Given the description of an element on the screen output the (x, y) to click on. 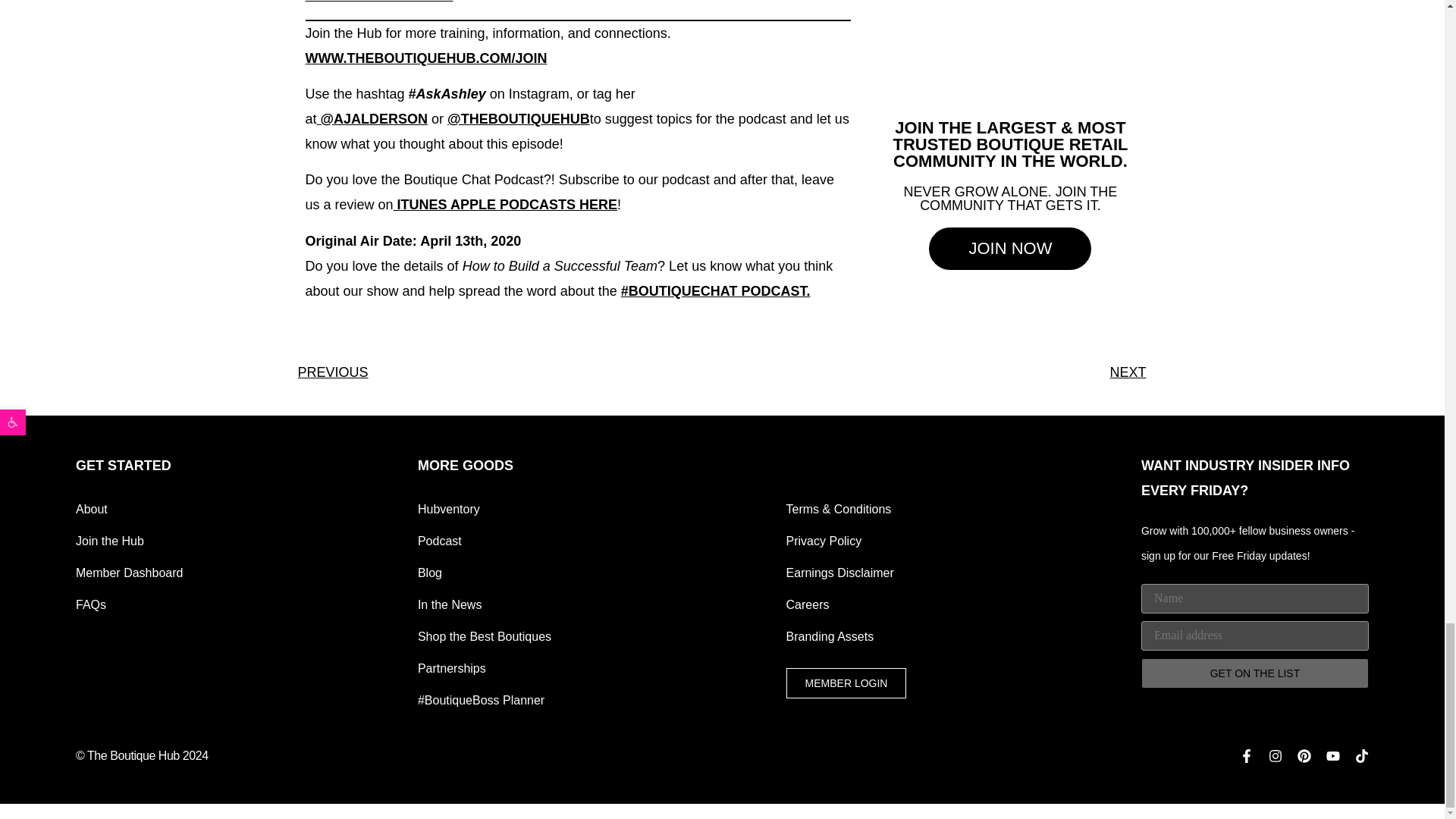
Youtube (1332, 755)
Pinterest (1304, 755)
Facebook (1246, 755)
Instagram (1275, 755)
Tiktok (1361, 755)
